Given the description of an element on the screen output the (x, y) to click on. 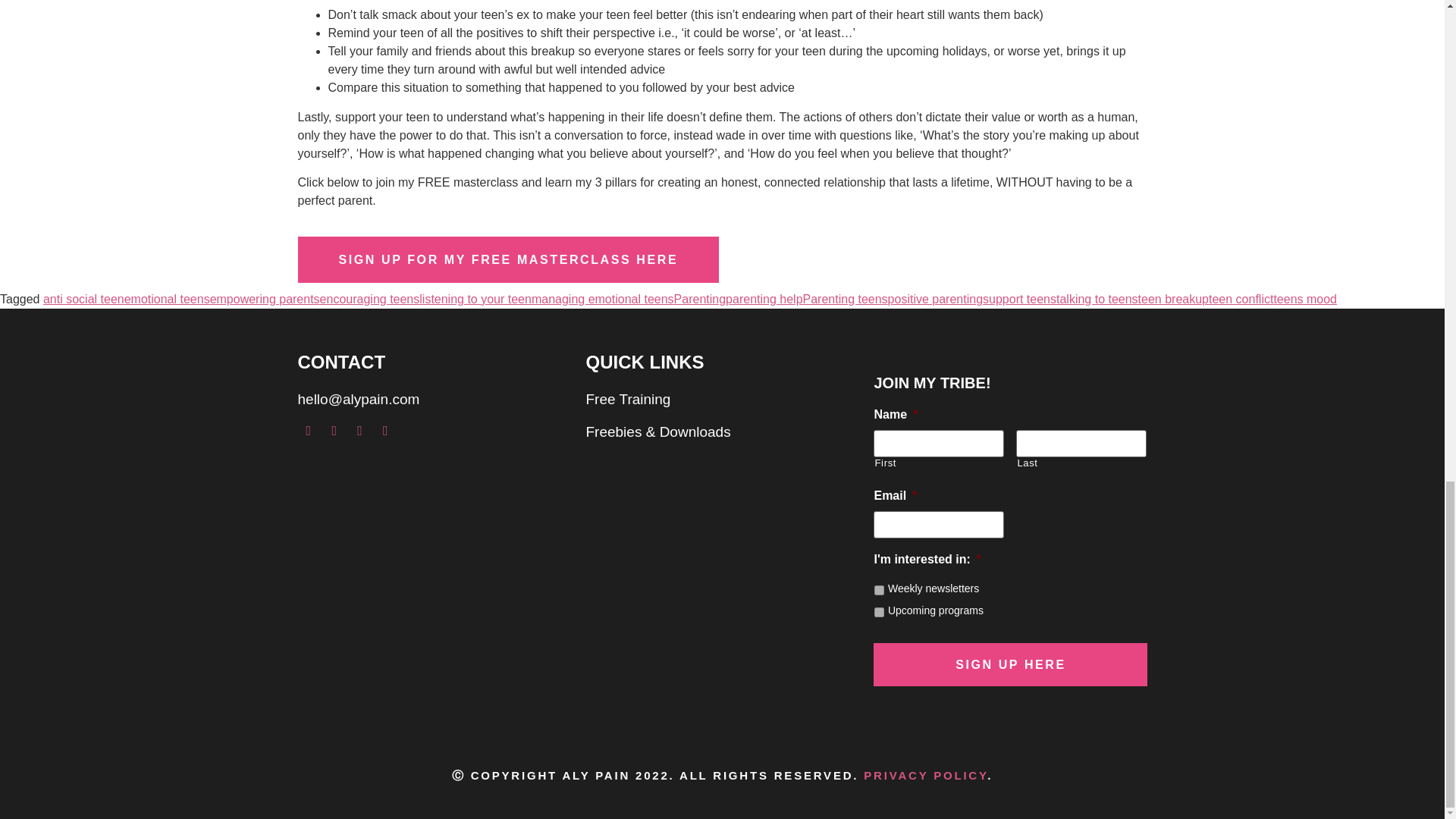
anti social teen (83, 298)
Weekly newsletters (879, 590)
Upcoming programs (879, 612)
SIGN UP FOR MY FREE MASTERCLASS HERE (508, 259)
SIGN UP HERE (1010, 664)
